Given the description of an element on the screen output the (x, y) to click on. 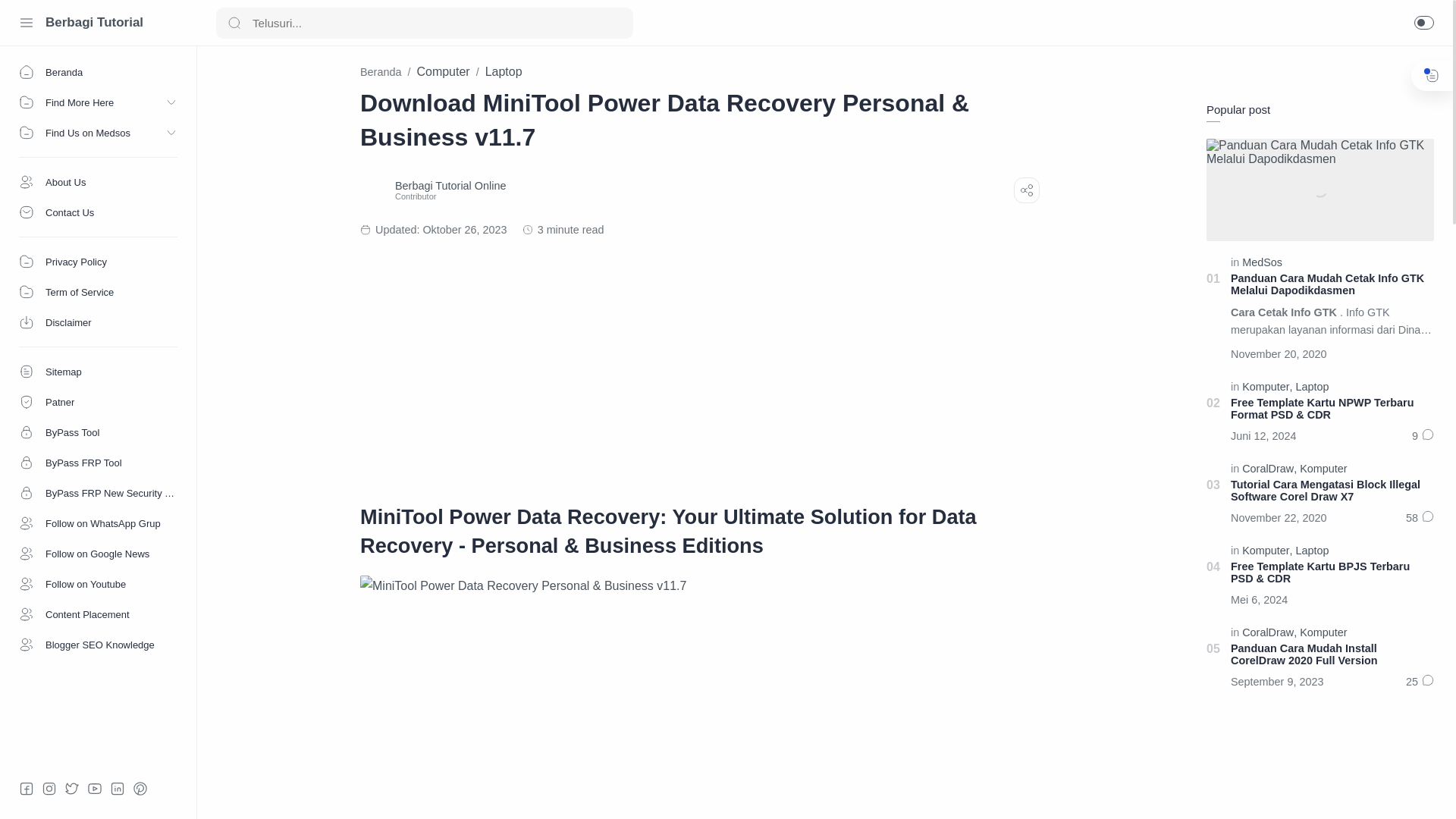
Follow on Google News (98, 553)
About Us (98, 182)
ByPass FRP Tool (98, 462)
Last updated: Juni 12, 2024 (1266, 435)
Last updated: November 22, 2020 (1281, 517)
Term of Service (98, 291)
ByPass Tool (98, 431)
Follow on Youtube (98, 583)
Patner (98, 401)
Last updated: November 20, 2020 (1281, 353)
Follow on WhatsApp Grup (98, 522)
Last updated: September 9, 2023 (1280, 681)
Disclaimer (98, 322)
ByPass FRP New Security Tool (98, 492)
Content Placement (98, 613)
